Given the description of an element on the screen output the (x, y) to click on. 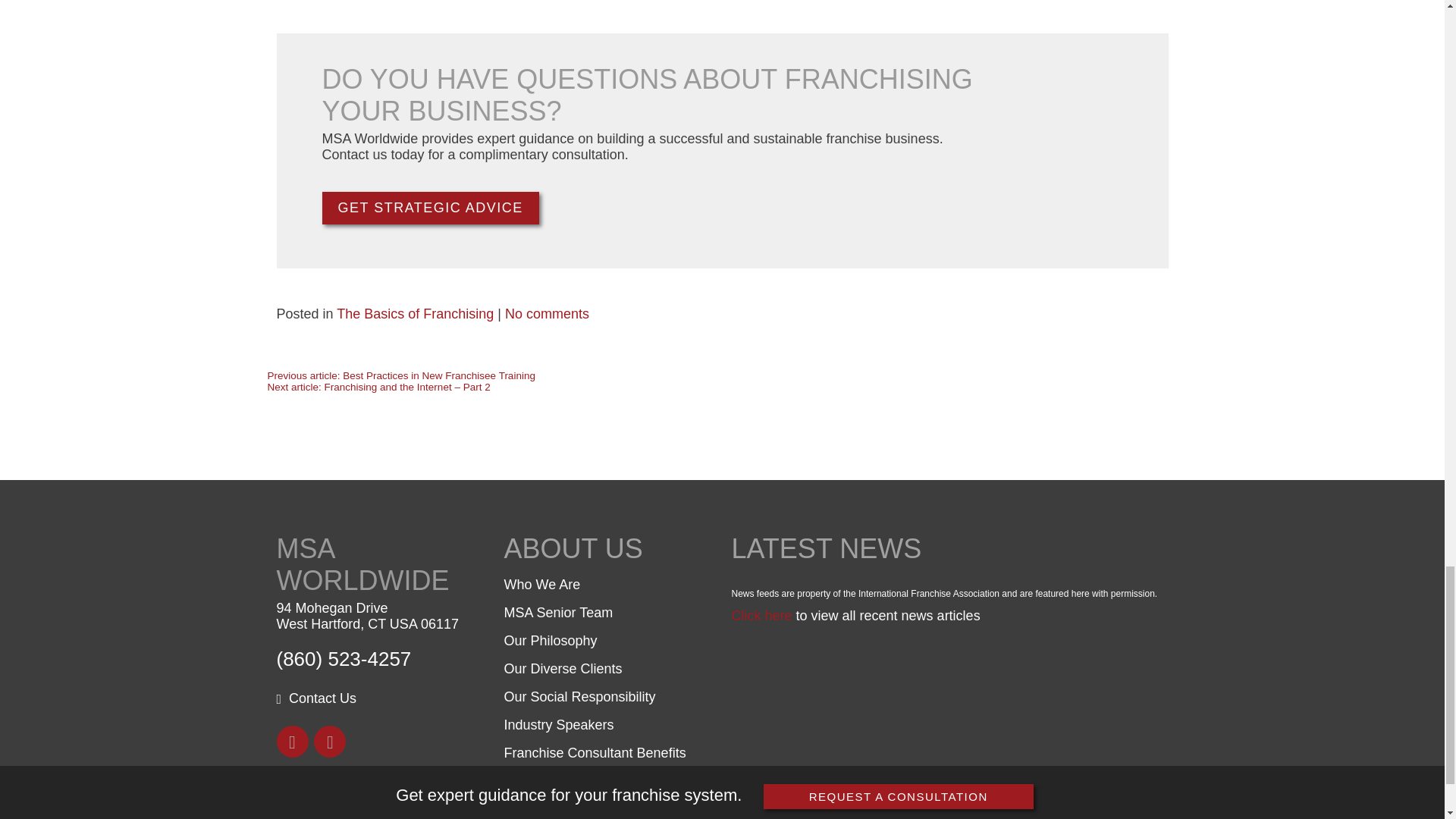
Careers with MSA (557, 780)
Contact Us (316, 698)
GET STRATEGIC ADVICE (429, 207)
No comments (547, 313)
Click here (761, 615)
Who We Are (541, 584)
Franchise Consultant Benefits (594, 752)
The Basics of Franchising (414, 313)
LinkedIn (330, 741)
Our Social Responsibility (579, 696)
Previous article: Best Practices in New Franchisee Training (400, 375)
Industry Speakers (557, 724)
Facebook (291, 741)
Our Philosophy (549, 640)
MSA Senior Team (557, 612)
